Given the description of an element on the screen output the (x, y) to click on. 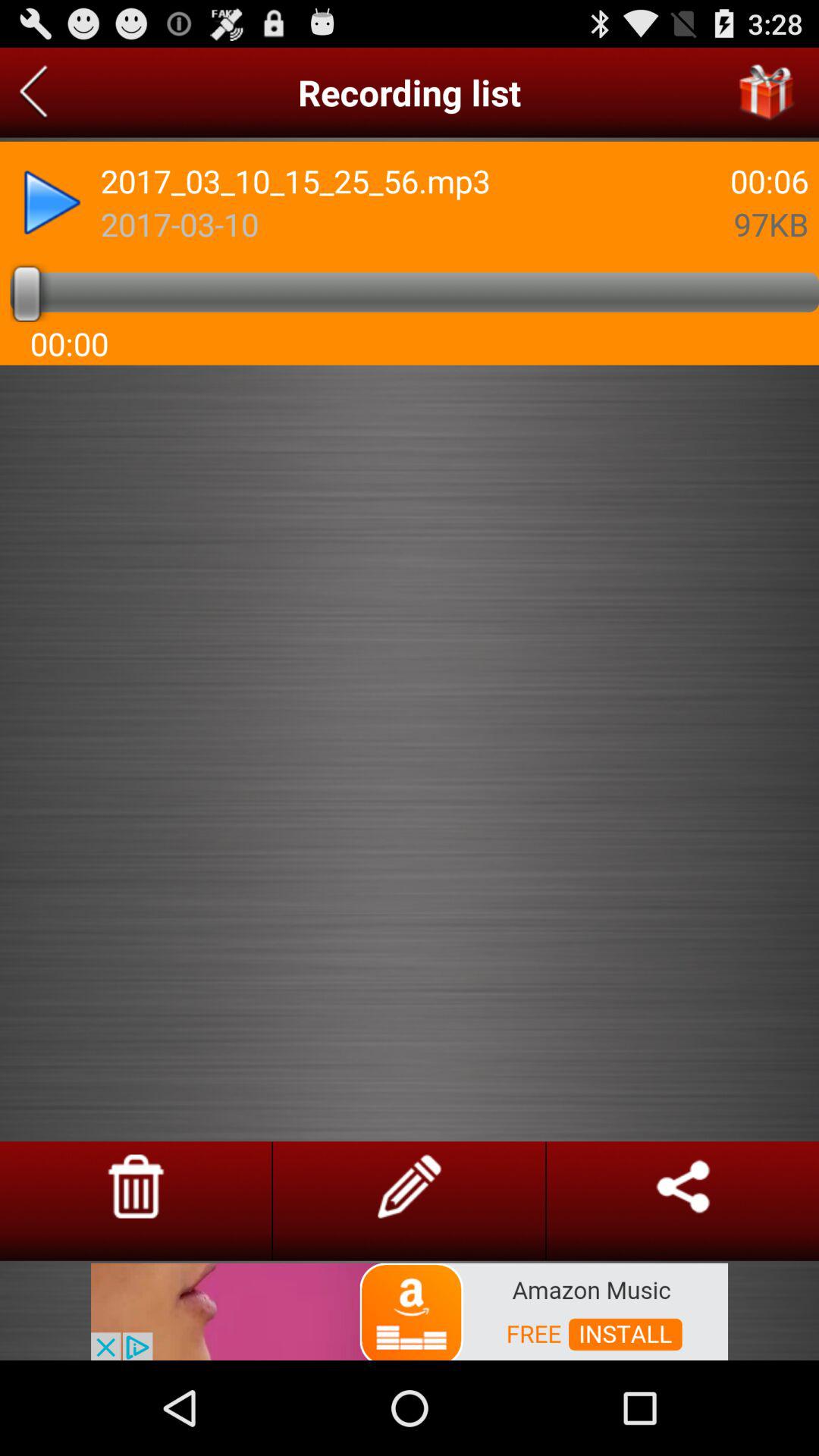
delete (135, 1186)
